Given the description of an element on the screen output the (x, y) to click on. 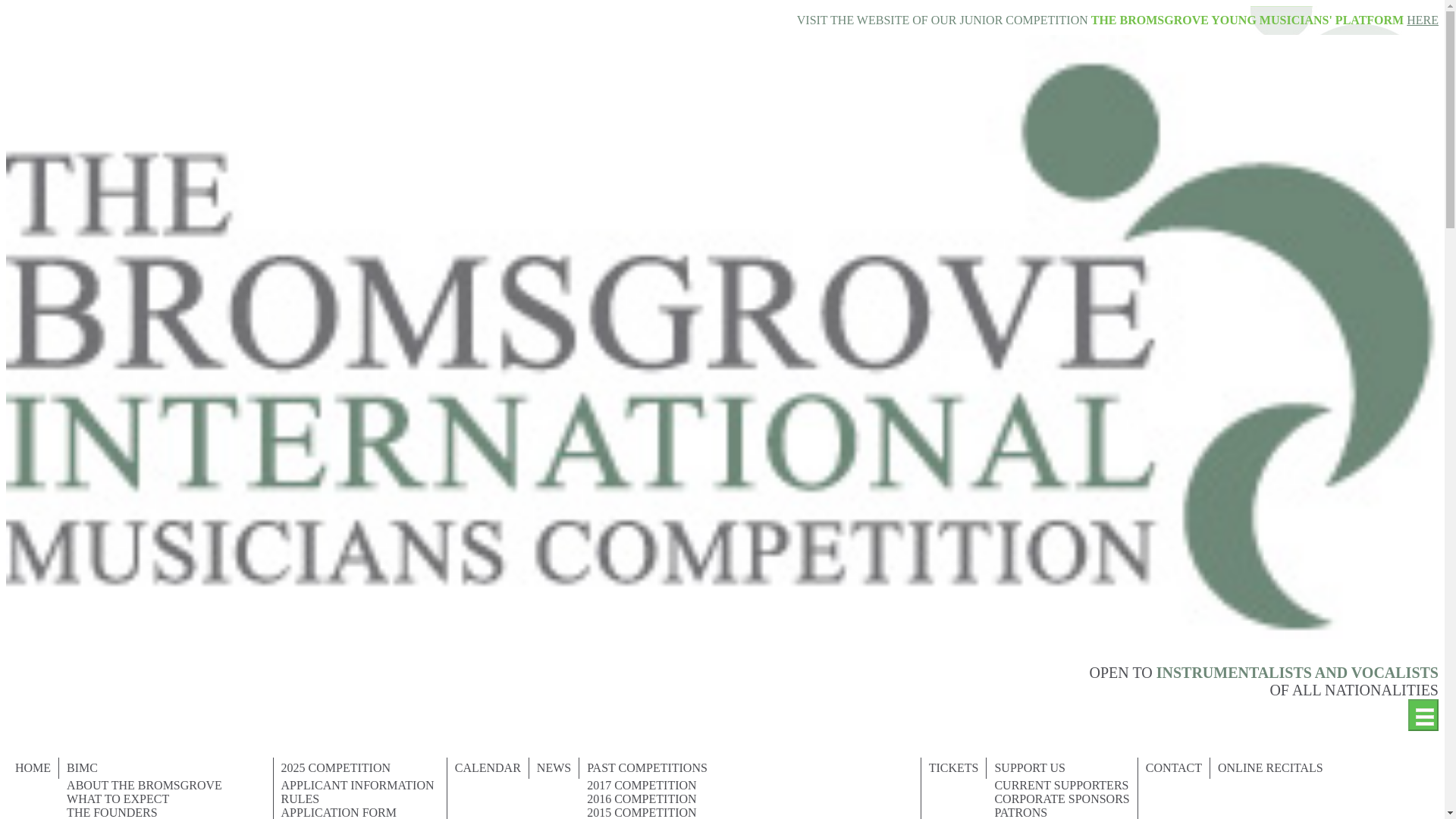
CALENDAR (487, 767)
2016 COMPETITION (750, 798)
HOME (33, 767)
WHAT TO EXPECT (166, 798)
ABOUT THE BROMSGROVE (166, 785)
2025 COMPETITION (359, 767)
2017 COMPETITION (750, 785)
NEWS (554, 767)
RULES (359, 798)
TICKETS (954, 767)
